Given the description of an element on the screen output the (x, y) to click on. 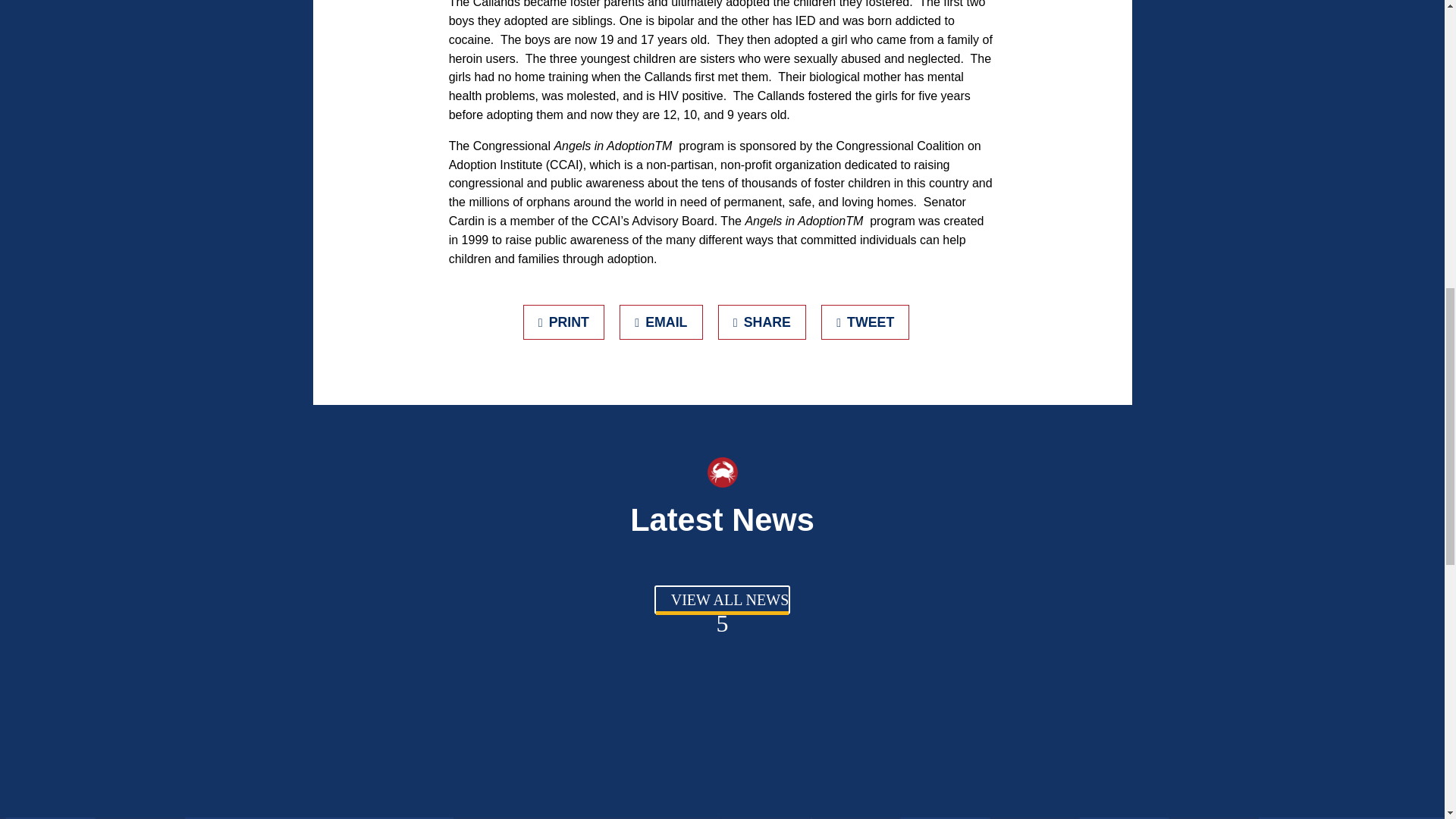
Share on Facebook (761, 321)
Crab (721, 472)
Tweet (865, 321)
Print (563, 321)
Email (661, 321)
